Given the description of an element on the screen output the (x, y) to click on. 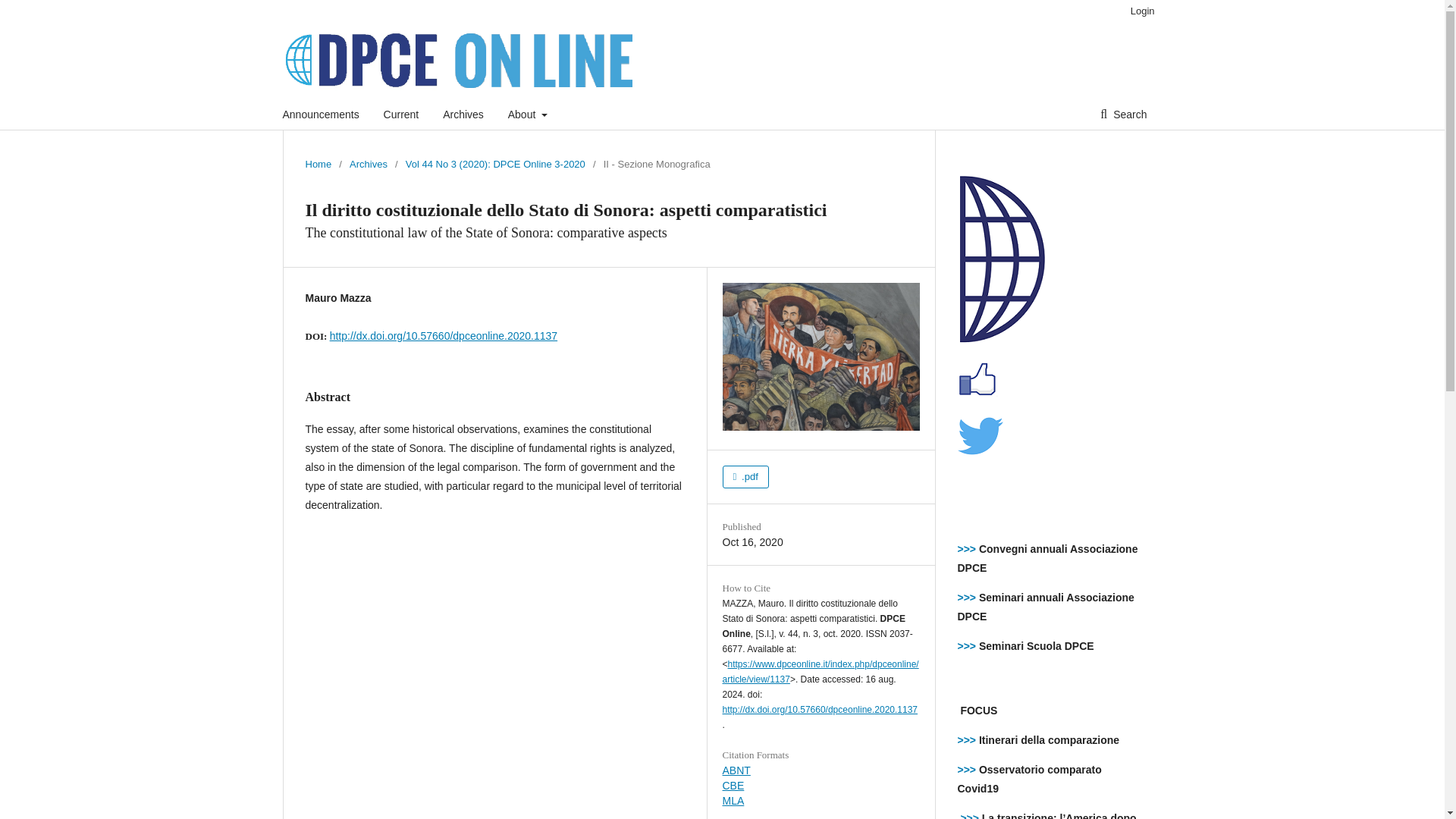
Login (1138, 11)
Current (401, 114)
Archives (368, 164)
Announcements (320, 114)
Home (317, 164)
Search (1122, 114)
Archives (462, 114)
About (527, 114)
CBE (733, 785)
.pdf (745, 477)
